Given the description of an element on the screen output the (x, y) to click on. 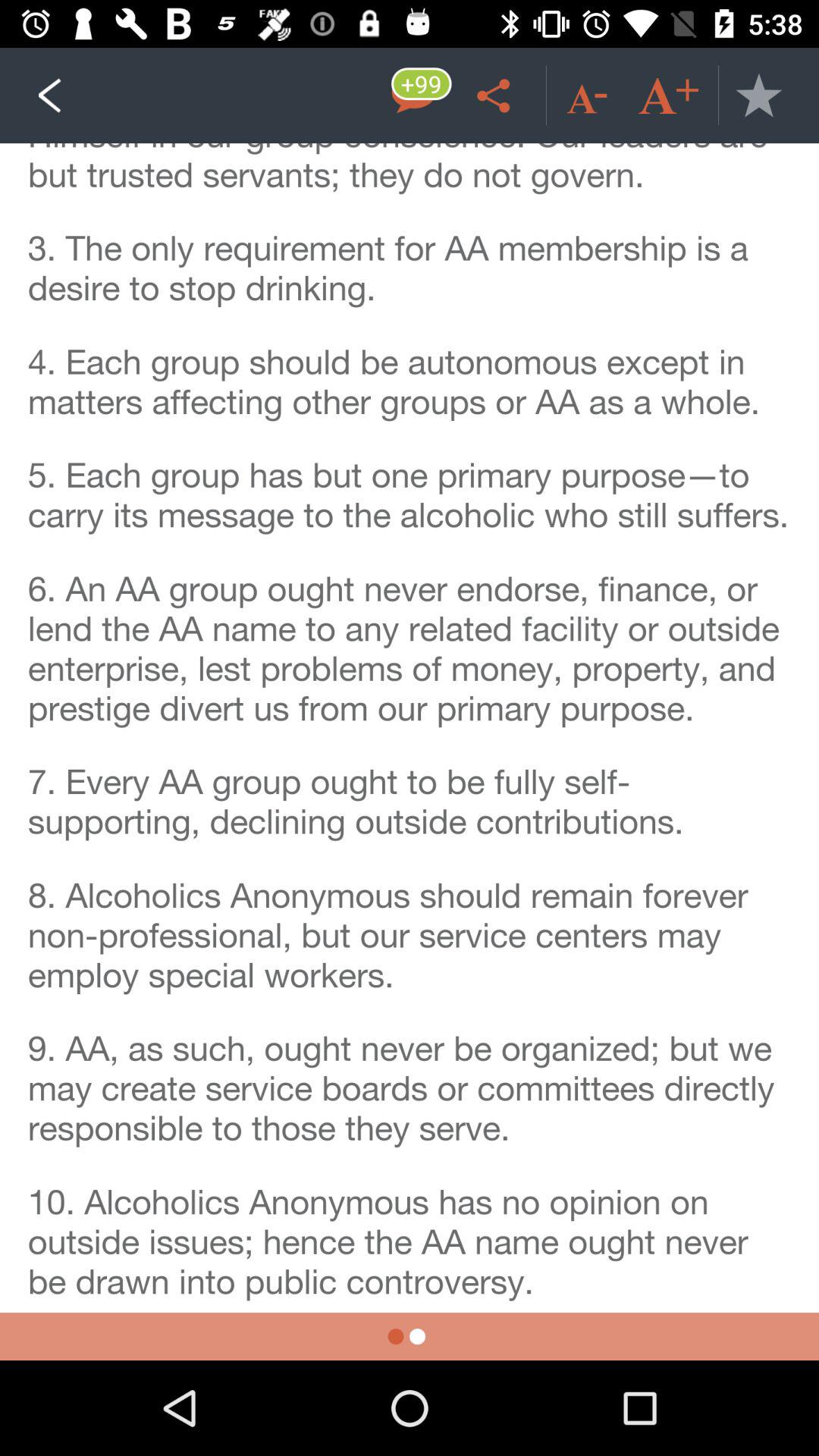
go to share (495, 95)
